Given the description of an element on the screen output the (x, y) to click on. 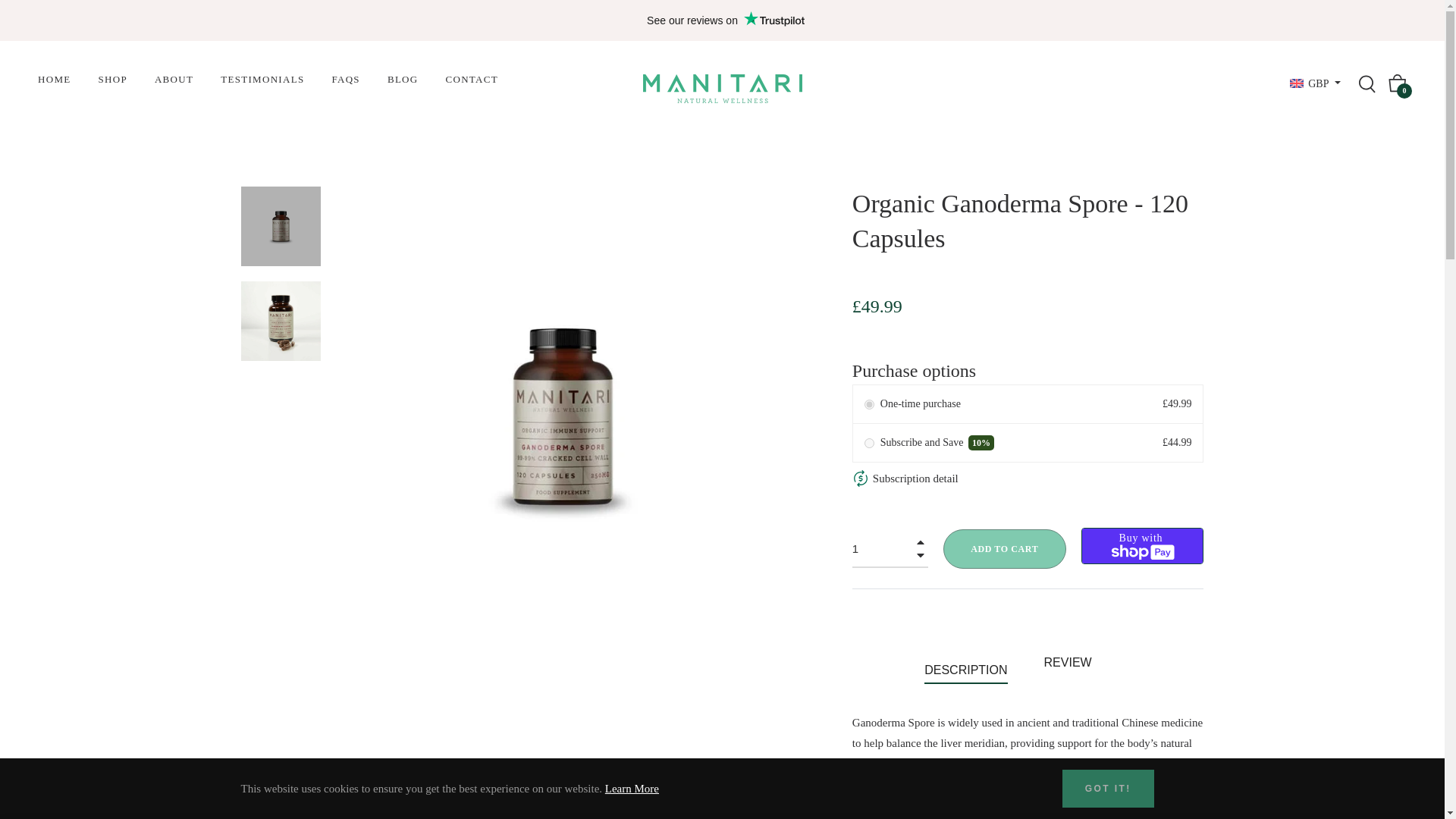
Customer reviews powered by Trustpilot (724, 20)
TESTIMONIALS (261, 78)
ADD TO CART (1004, 548)
1 (889, 548)
Shopping Cart (1397, 83)
Currencies (1315, 82)
CONTACT (472, 78)
